Given the description of an element on the screen output the (x, y) to click on. 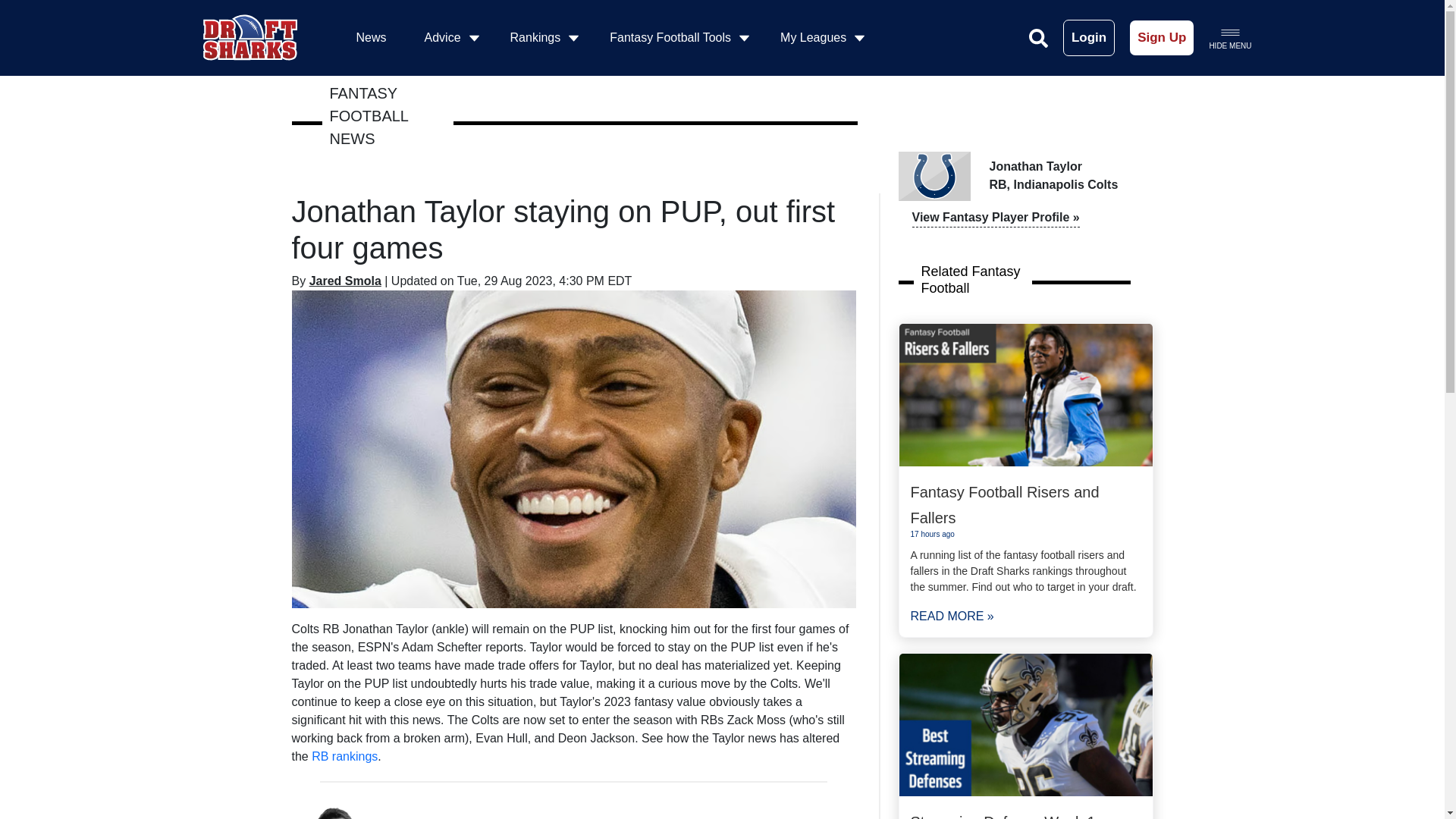
Sign Up (1161, 37)
HIDE MENU (1229, 37)
Login (1088, 37)
